Given the description of an element on the screen output the (x, y) to click on. 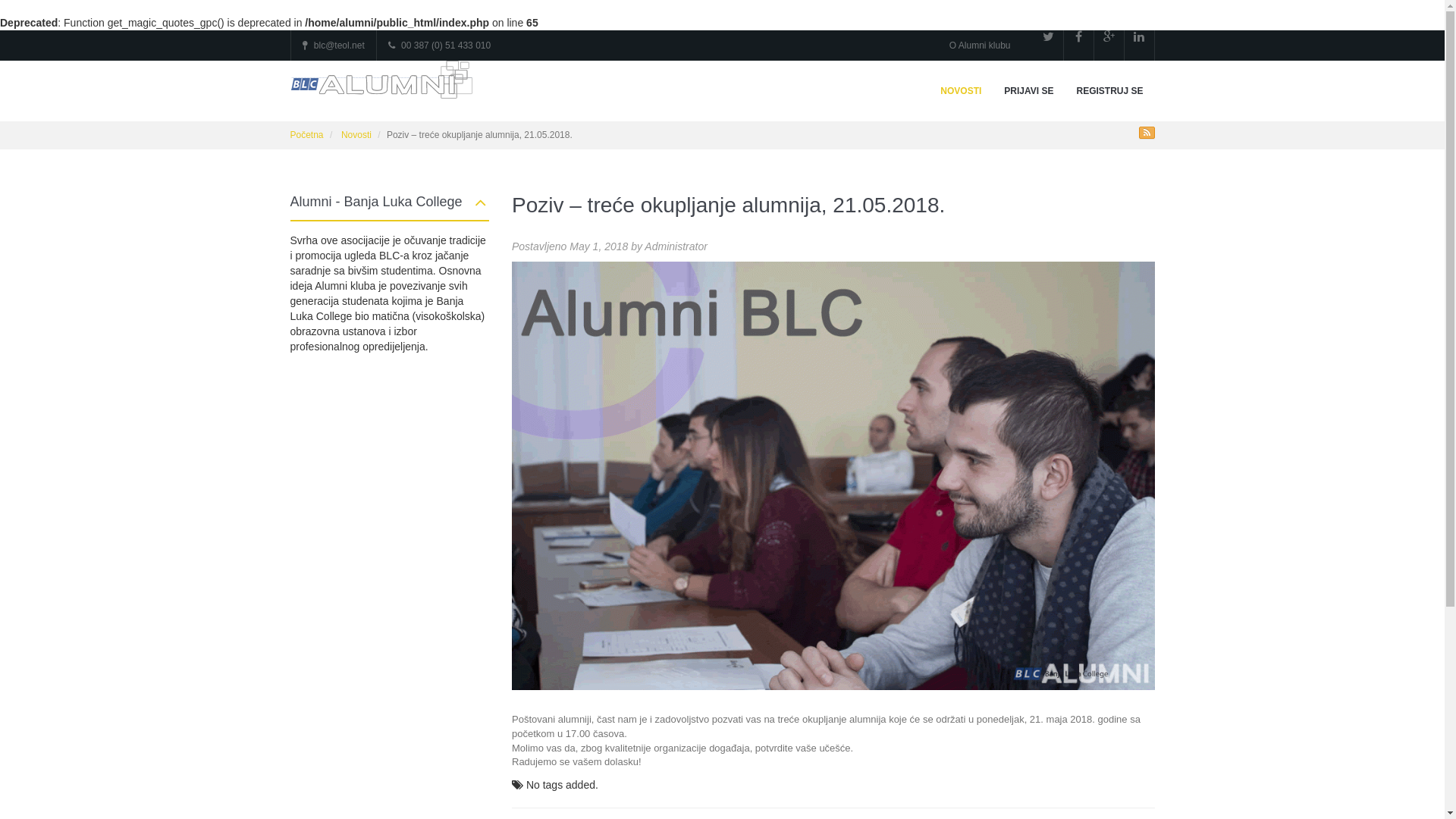
PRIJAVI SE Element type: text (1028, 90)
Novosti Element type: text (356, 134)
REGISTRUJ SE Element type: text (1109, 90)
O Alumni klubu Element type: text (980, 45)
NOVOSTI Element type: text (960, 90)
